Given the description of an element on the screen output the (x, y) to click on. 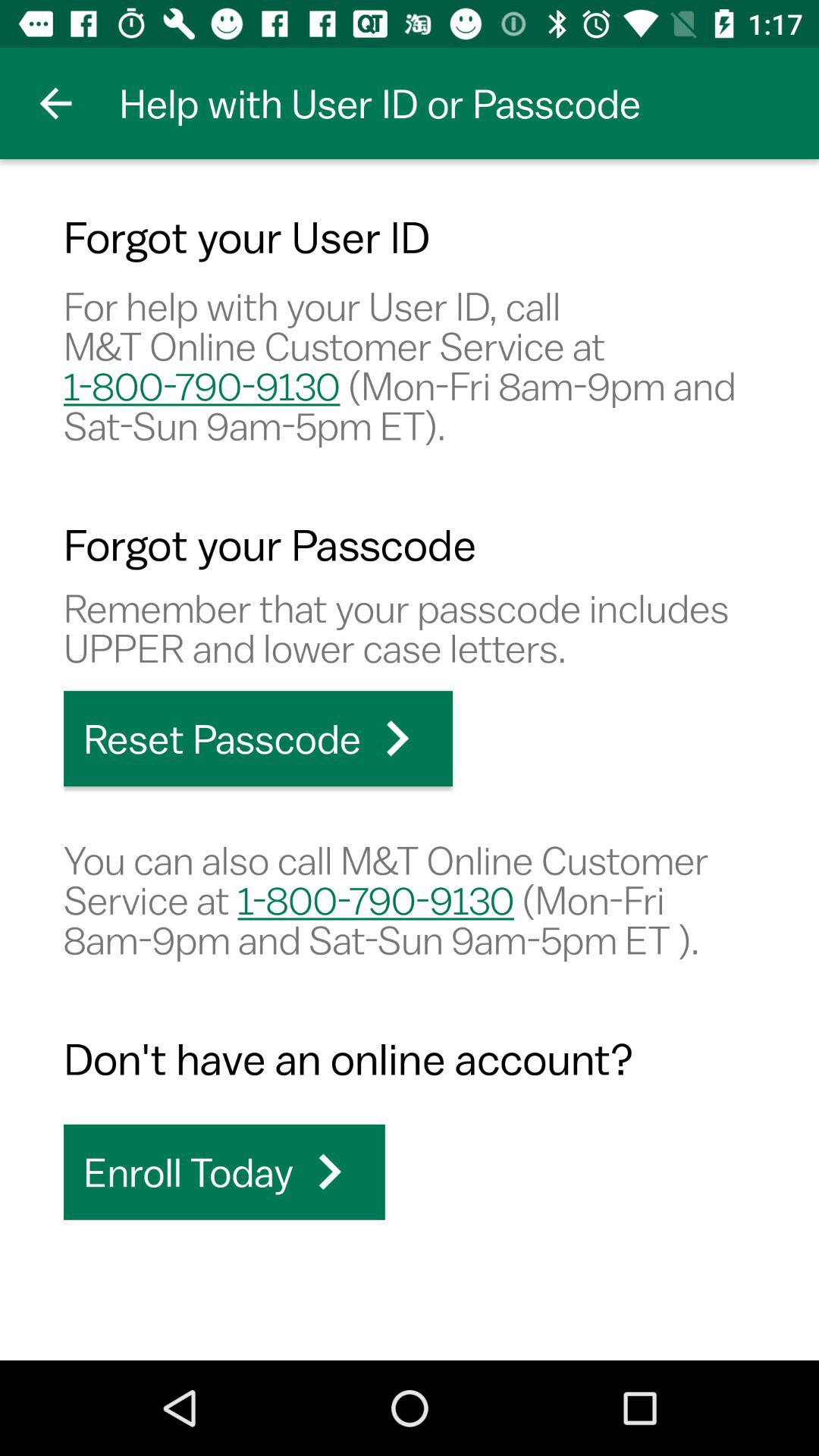
select the icon on the left (257, 738)
